Given the description of an element on the screen output the (x, y) to click on. 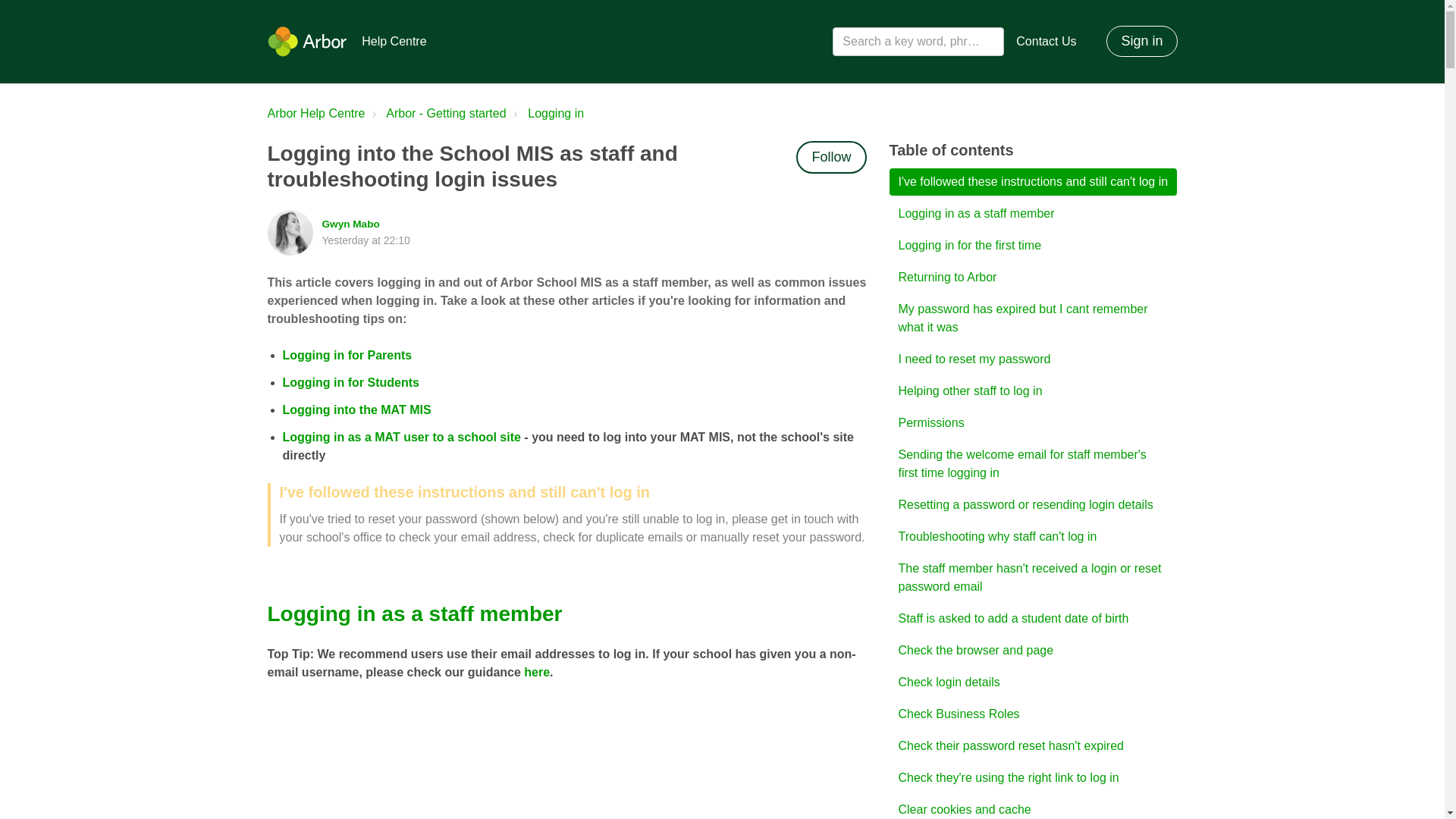
2024-08-19 22:10 (365, 240)
Logging in (546, 113)
Gwyn Mabo (349, 224)
Logging in for Students (350, 382)
Logging into the MAT MIS (356, 409)
Logging in (555, 113)
Arbor - Getting started (445, 113)
Returning to Arbor (1032, 277)
Logging in as a staff member (1032, 213)
Contact Us (1045, 41)
